Given the description of an element on the screen output the (x, y) to click on. 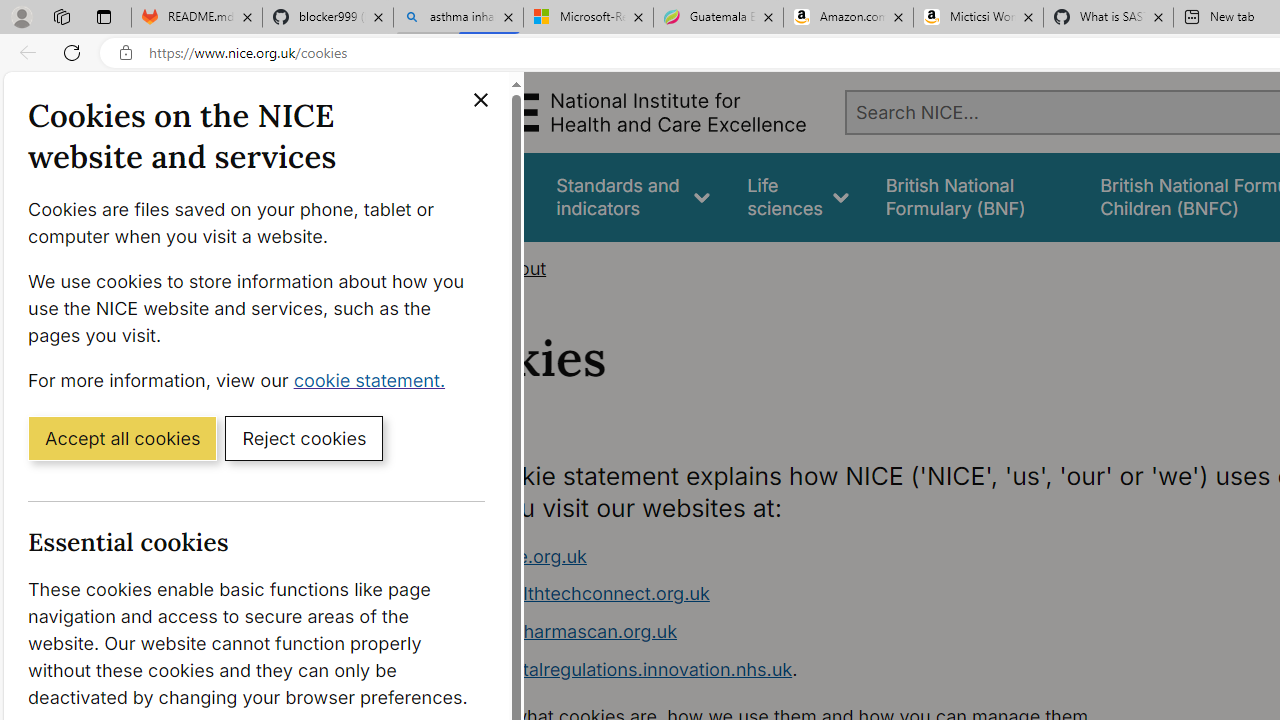
cookie statement. (Opens in a new window) (373, 379)
asthma inhaler - Search (458, 17)
www.digitalregulations.innovation.nhs.uk. (818, 669)
www.digitalregulations.innovation.nhs.uk (617, 668)
Home> (456, 268)
www.ukpharmascan.org.uk (560, 631)
About (520, 268)
false (974, 196)
